Given the description of an element on the screen output the (x, y) to click on. 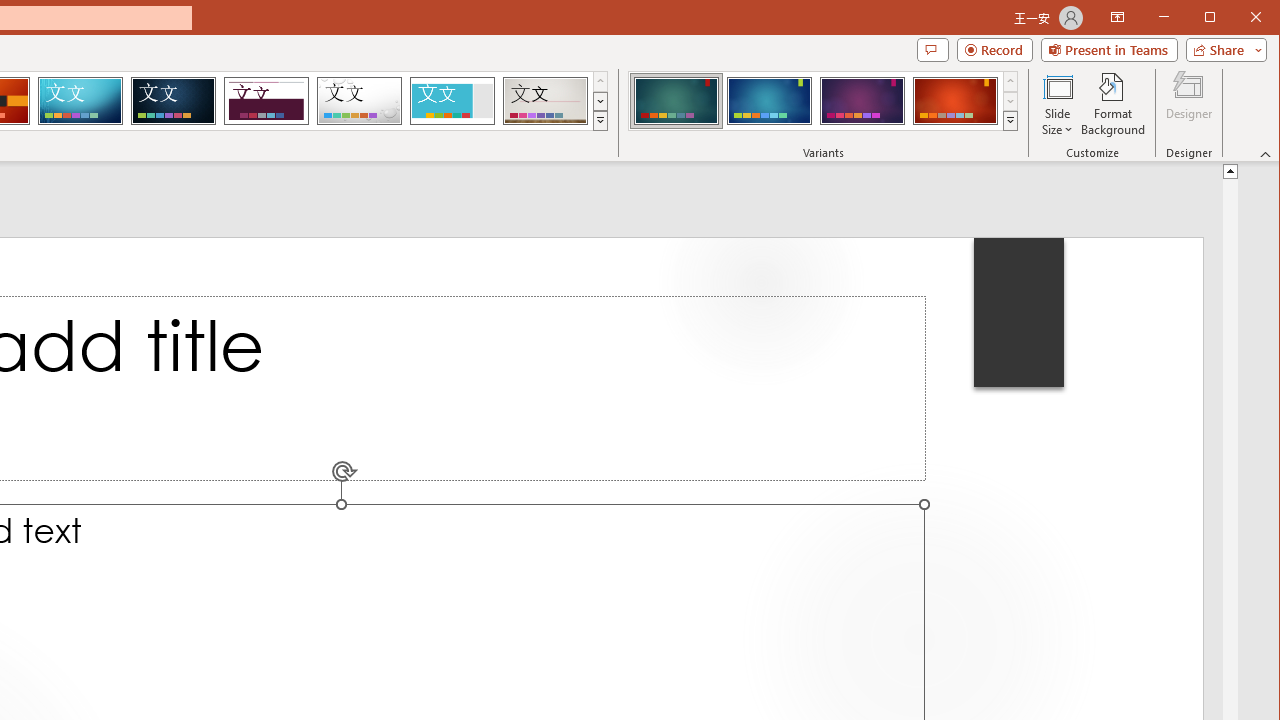
Maximize (1238, 18)
Droplet (359, 100)
Ion Variant 1 (676, 100)
Ion Variant 4 (955, 100)
AutomationID: ThemeVariantsGallery (824, 101)
Dividend (266, 100)
Gallery (545, 100)
